Given the description of an element on the screen output the (x, y) to click on. 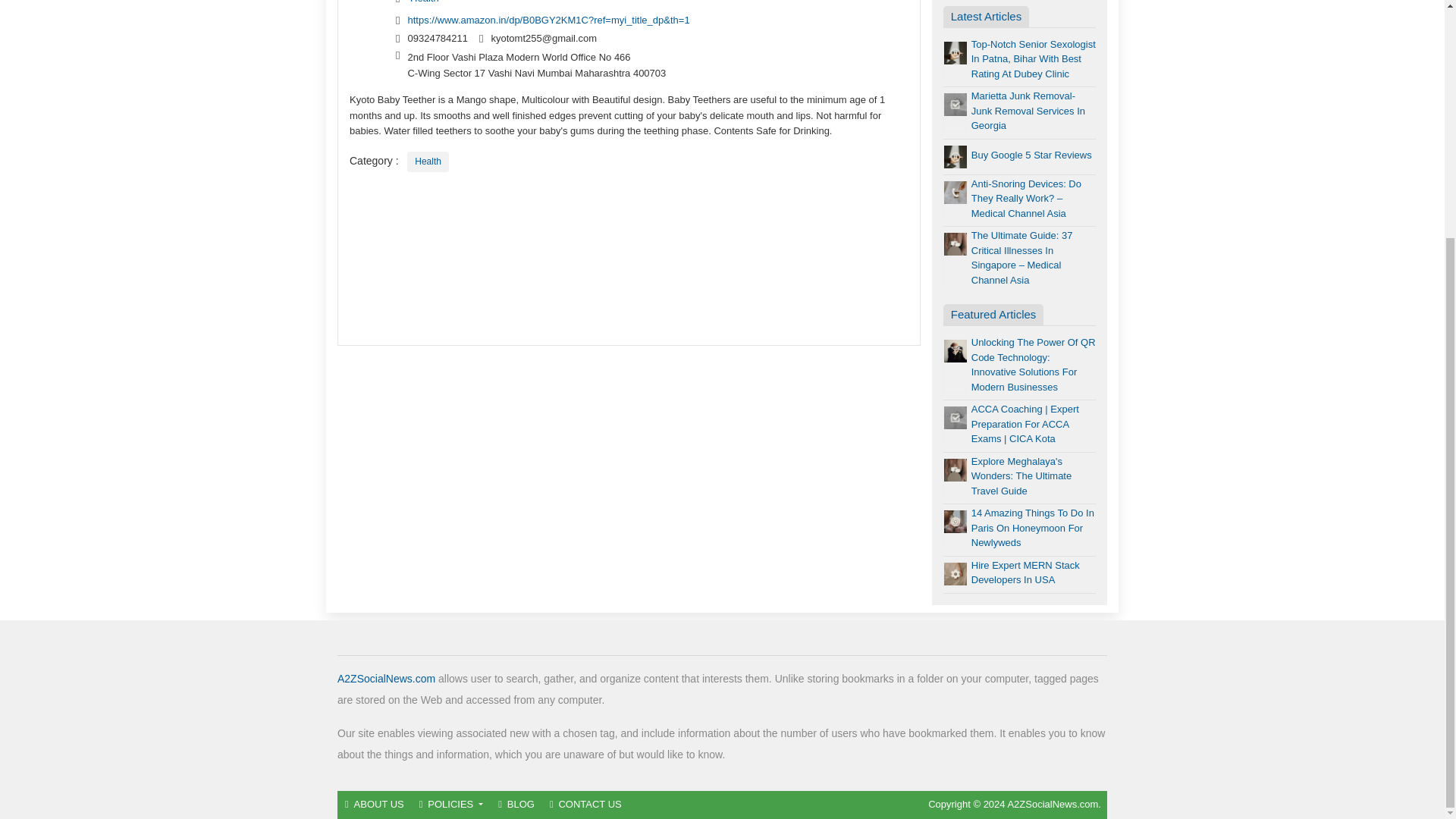
Health (424, 2)
Health (424, 2)
Health (427, 161)
Health (427, 161)
Advertisement (628, 259)
